Given the description of an element on the screen output the (x, y) to click on. 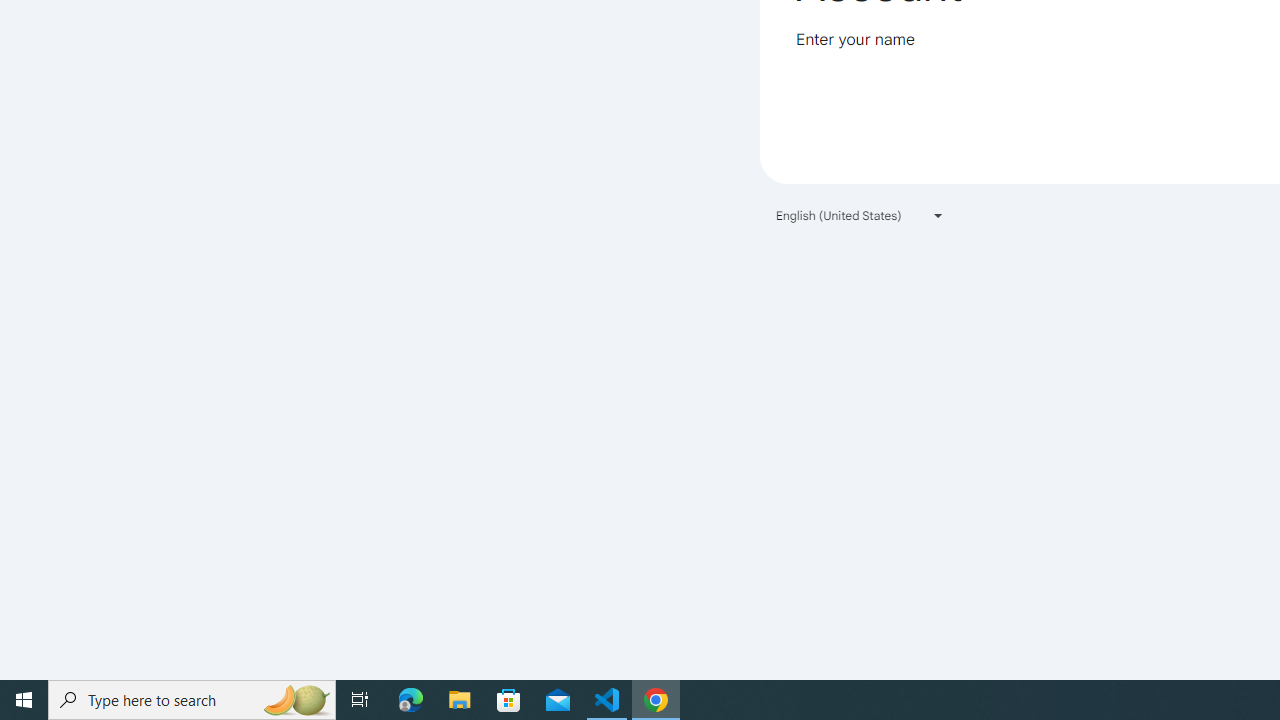
English (United States) (860, 214)
